Given the description of an element on the screen output the (x, y) to click on. 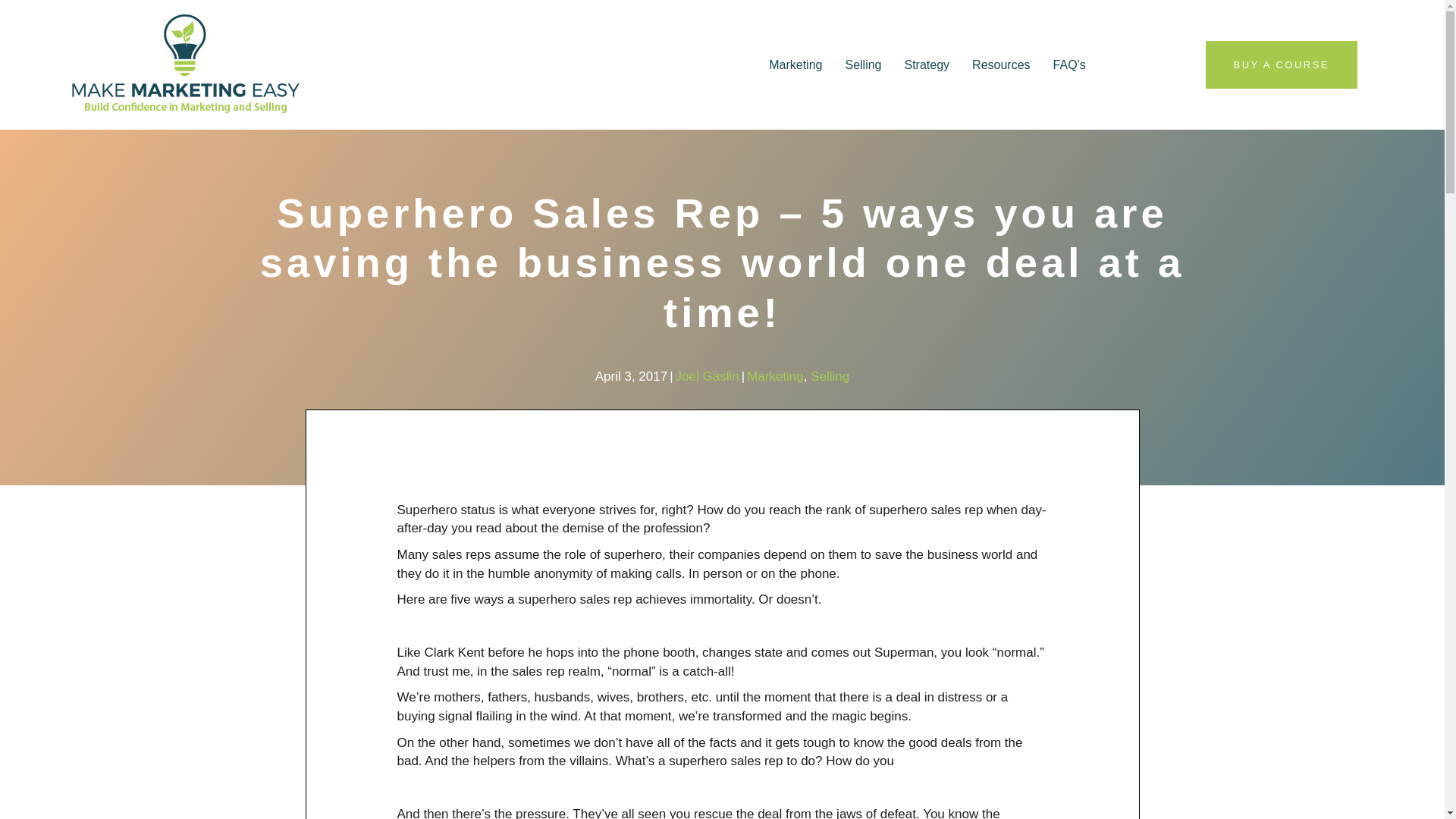
Selling (829, 376)
Marketing (774, 376)
Marketing (795, 64)
BUY A COURSE (1280, 64)
Resources (999, 64)
MME-Logo v5-300x133px-11-29-2020 (185, 64)
Selling (862, 64)
Strategy (926, 64)
Joel Gaslin (707, 376)
